Given the description of an element on the screen output the (x, y) to click on. 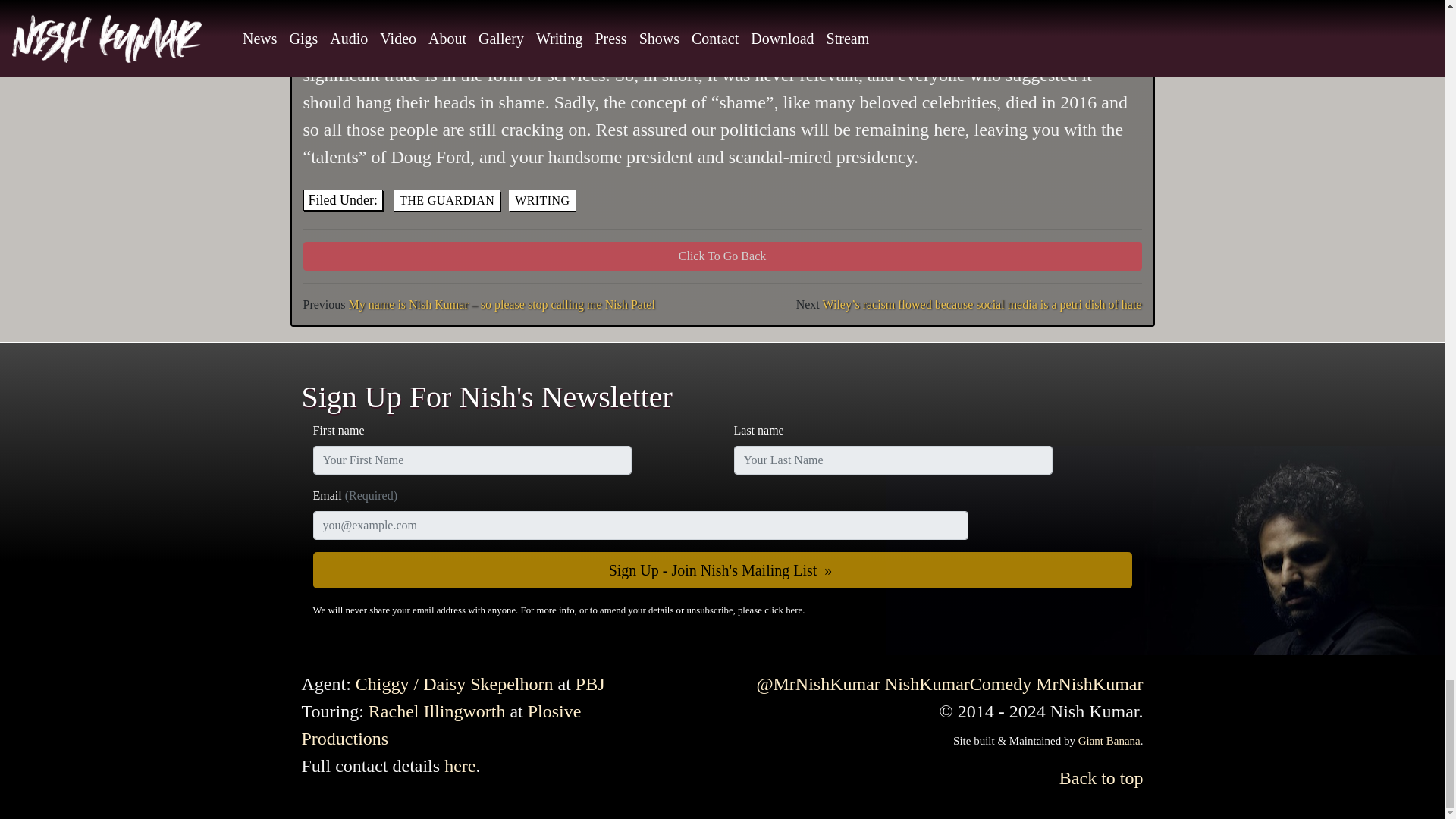
NishKumarComedy (957, 683)
Back to top (1100, 777)
PBJ (590, 683)
Giant Banana (1109, 740)
Click To Go Back (721, 256)
WRITING (541, 200)
THE GUARDIAN (446, 200)
here (460, 765)
Rachel Illingworth (436, 711)
Plosive Productions (440, 724)
click here (783, 610)
MrNishKumar (1088, 683)
